Given the description of an element on the screen output the (x, y) to click on. 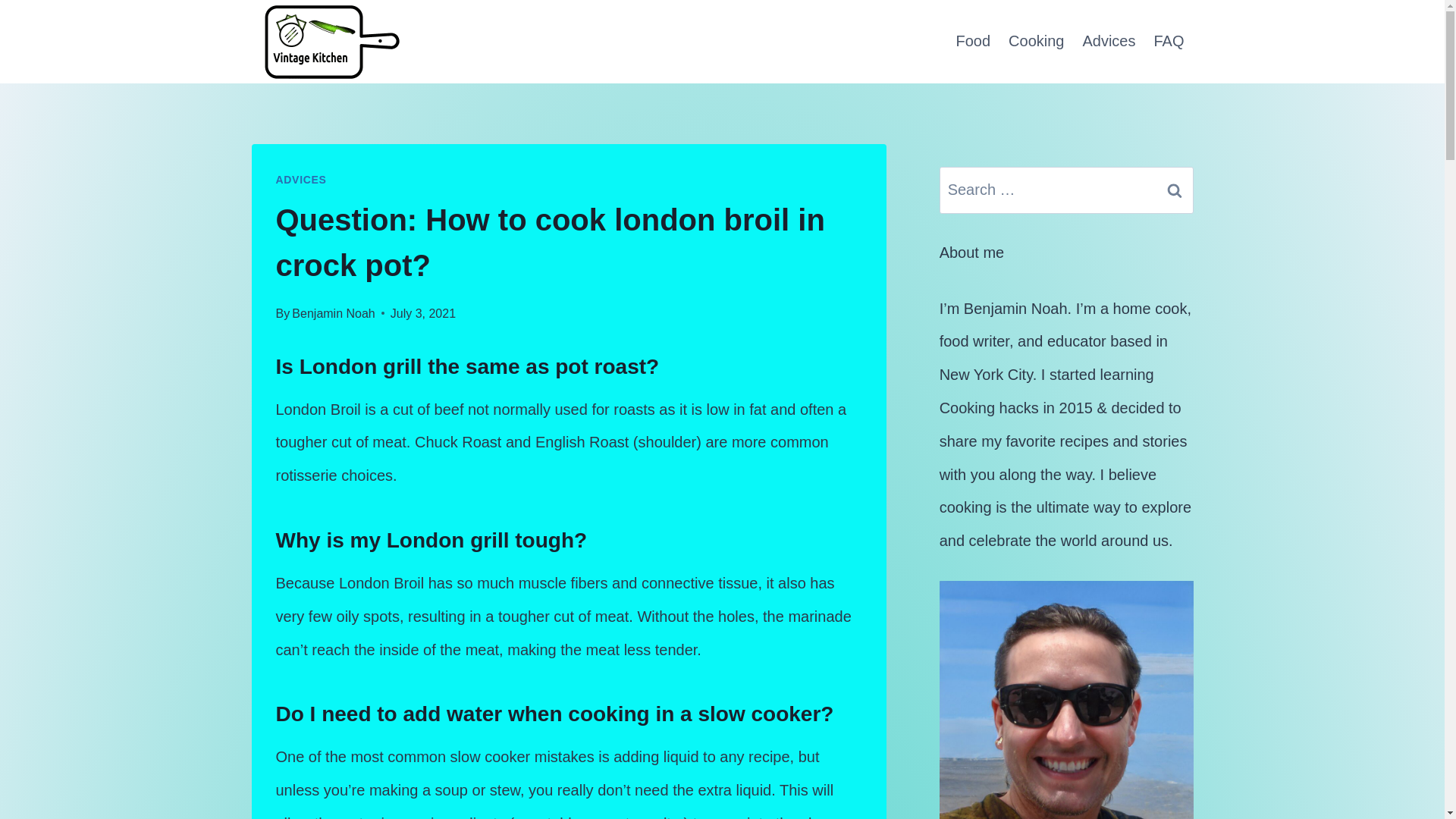
Advices (1108, 41)
Food (972, 41)
Cooking (1035, 41)
Benjamin Noah (333, 313)
ADVICES (301, 179)
FAQ (1168, 41)
